Given the description of an element on the screen output the (x, y) to click on. 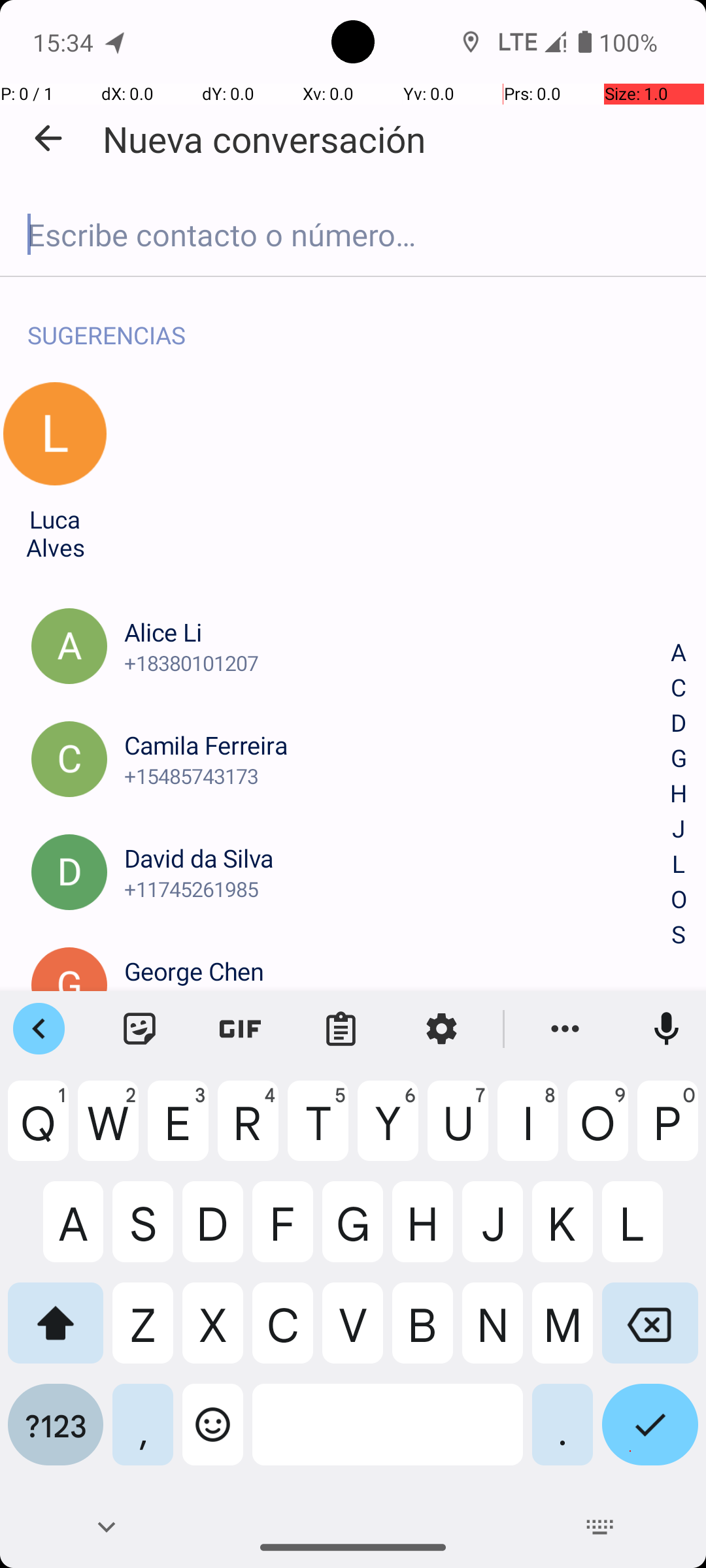
Atrás Element type: android.widget.ImageButton (48, 138)
Nueva conversación Element type: android.widget.TextView (263, 138)
Escribe contacto o número… Element type: android.widget.EditText (352, 234)
SUGERENCIAS Element type: android.widget.TextView (106, 321)
A
C
D
G
H
J
L
O
S Element type: android.widget.TextView (678, 793)
Luca Alves Element type: android.widget.TextView (54, 532)
Alice Li Element type: android.widget.TextView (397, 631)
+18380101207 Element type: android.widget.TextView (397, 662)
Camila Ferreira Element type: android.widget.TextView (397, 744)
+15485743173 Element type: android.widget.TextView (397, 775)
David da Silva Element type: android.widget.TextView (397, 857)
+11745261985 Element type: android.widget.TextView (397, 888)
George Chen Element type: android.widget.TextView (397, 970)
+19888537913 Element type: android.widget.TextView (397, 1001)
